Given the description of an element on the screen output the (x, y) to click on. 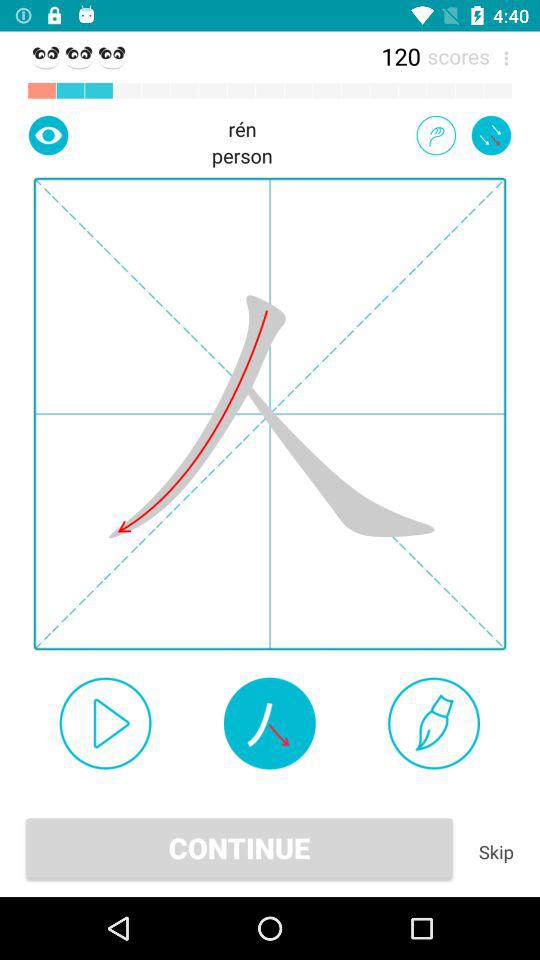
launch button at the bottom left corner (105, 723)
